Given the description of an element on the screen output the (x, y) to click on. 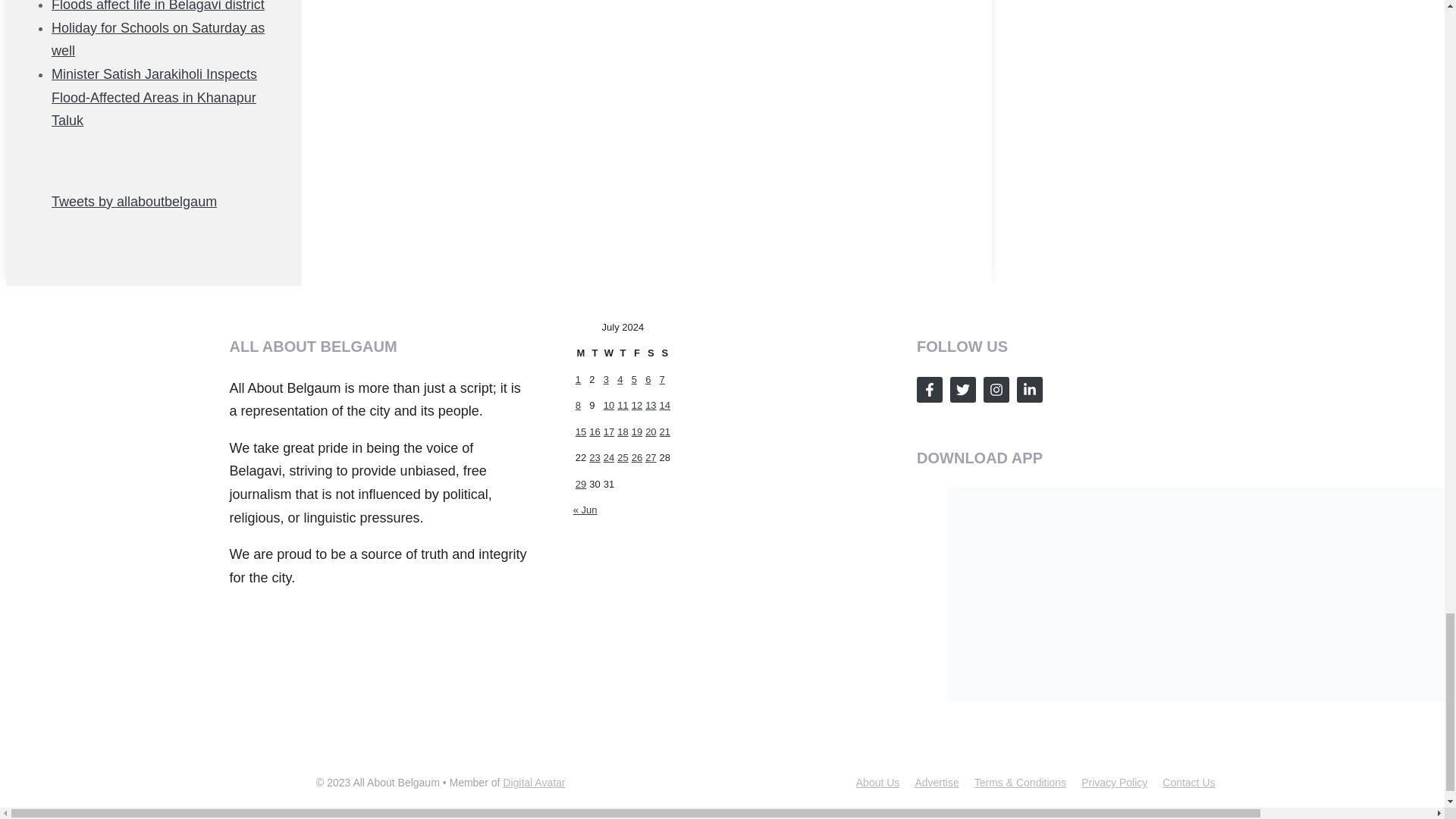
Floods affect life in Belagavi district (157, 6)
Holiday for Schools on Saturday as well (157, 39)
Tweets by allaboutbelgaum (133, 201)
